Given the description of an element on the screen output the (x, y) to click on. 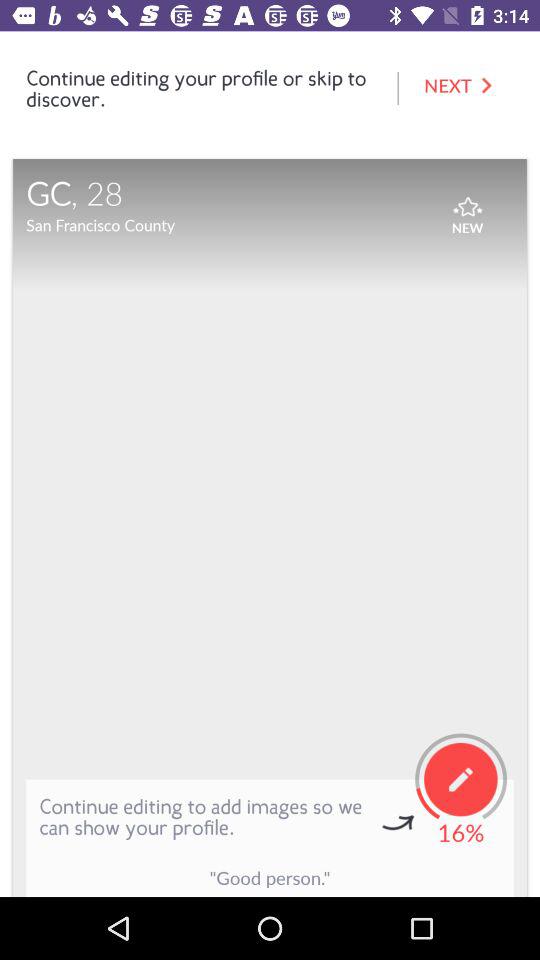
select on the icon above new (466, 201)
move to the arrow next to 16 (398, 823)
click the button above the text 16 on the web page (460, 779)
